Given the description of an element on the screen output the (x, y) to click on. 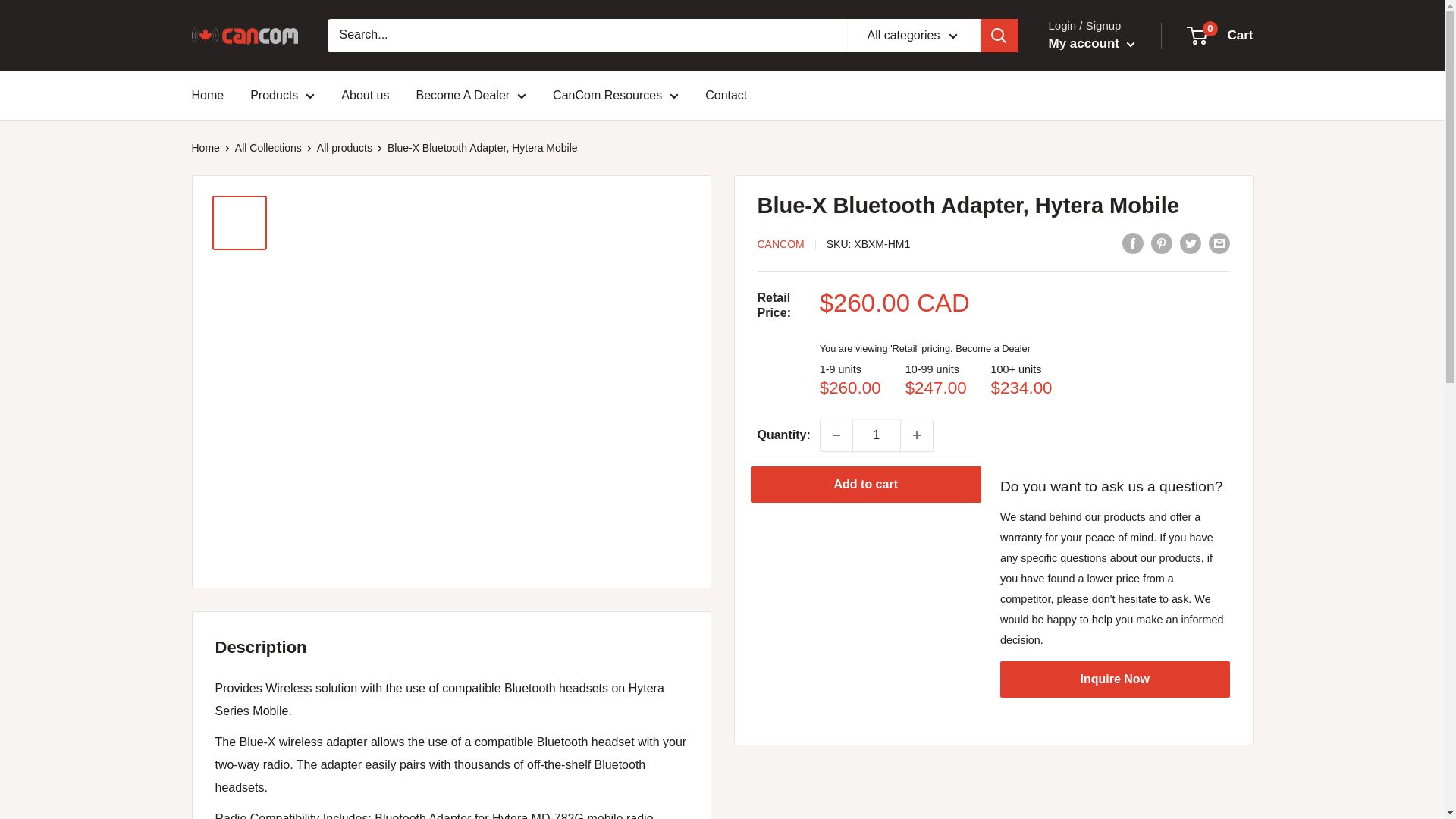
CanCom Radio Accessories (243, 35)
My account (1091, 43)
Decrease quantity by 1 (836, 435)
Increase quantity by 1 (917, 435)
1 (876, 435)
